Given the description of an element on the screen output the (x, y) to click on. 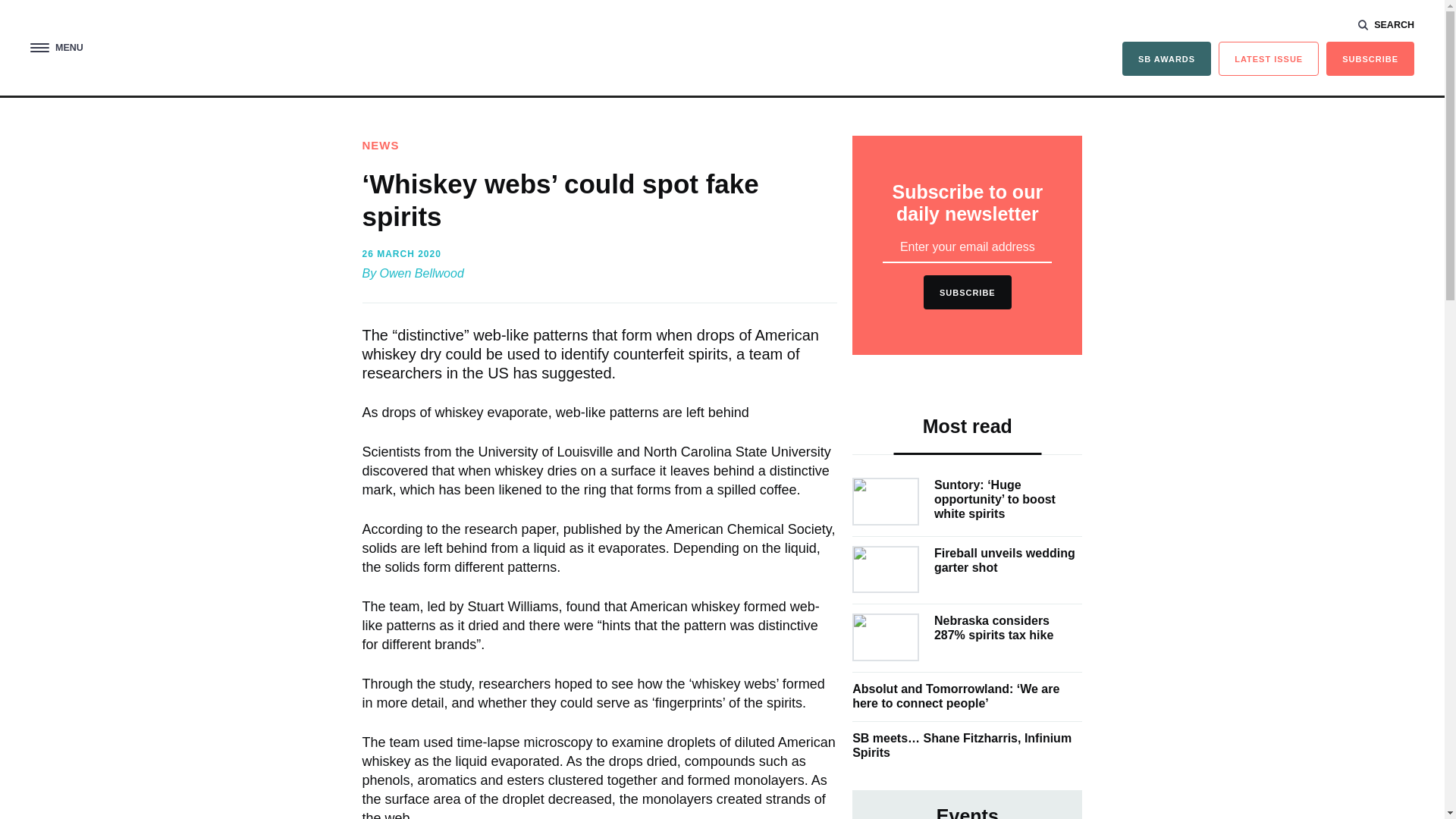
SEARCH (1385, 24)
MENU (56, 48)
LATEST ISSUE (1268, 58)
SUBSCRIBE (1369, 58)
SB AWARDS (1166, 58)
The Spirits Business (721, 47)
